Given the description of an element on the screen output the (x, y) to click on. 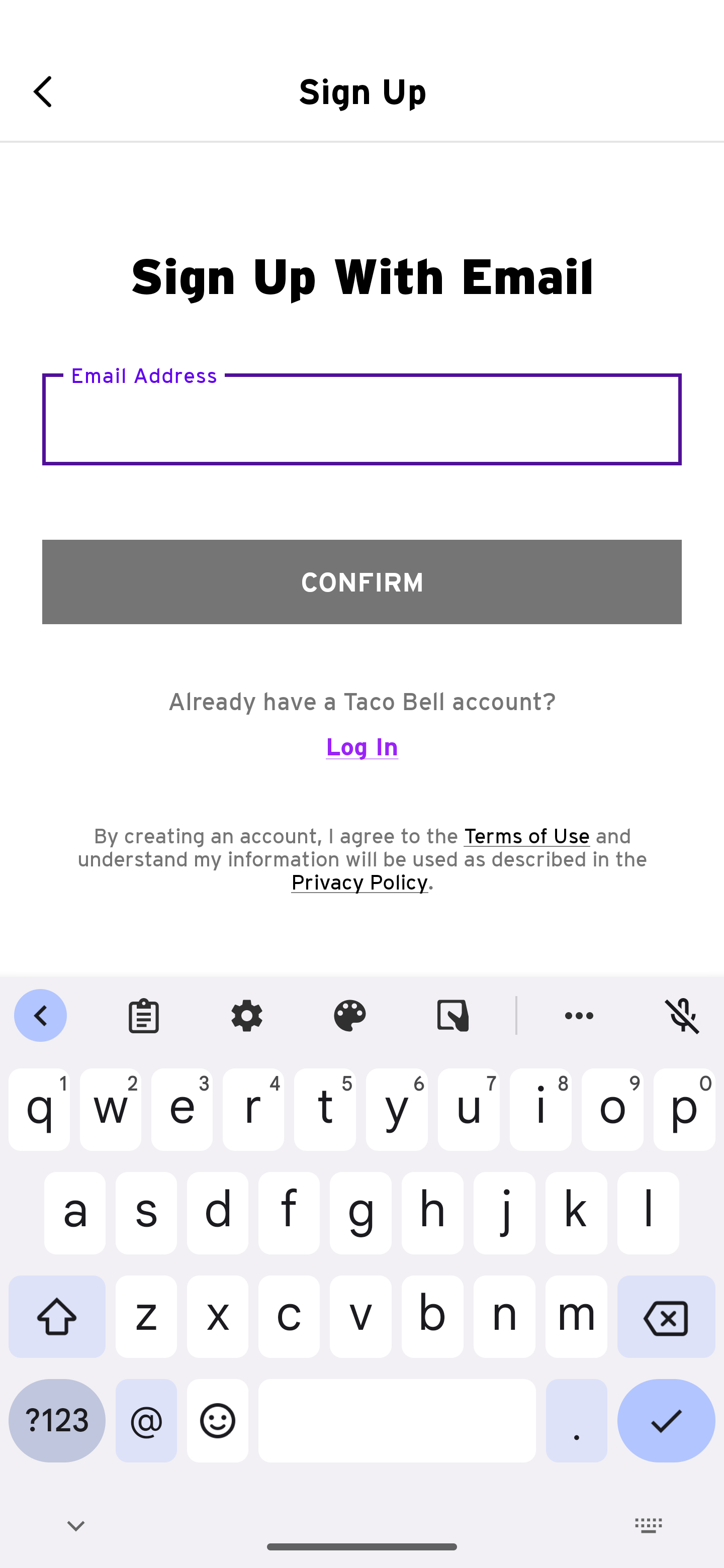
Navigate up (49, 91)
Email Address (361, 419)
CONFIRM (361, 581)
Log In (361, 754)
